Given the description of an element on the screen output the (x, y) to click on. 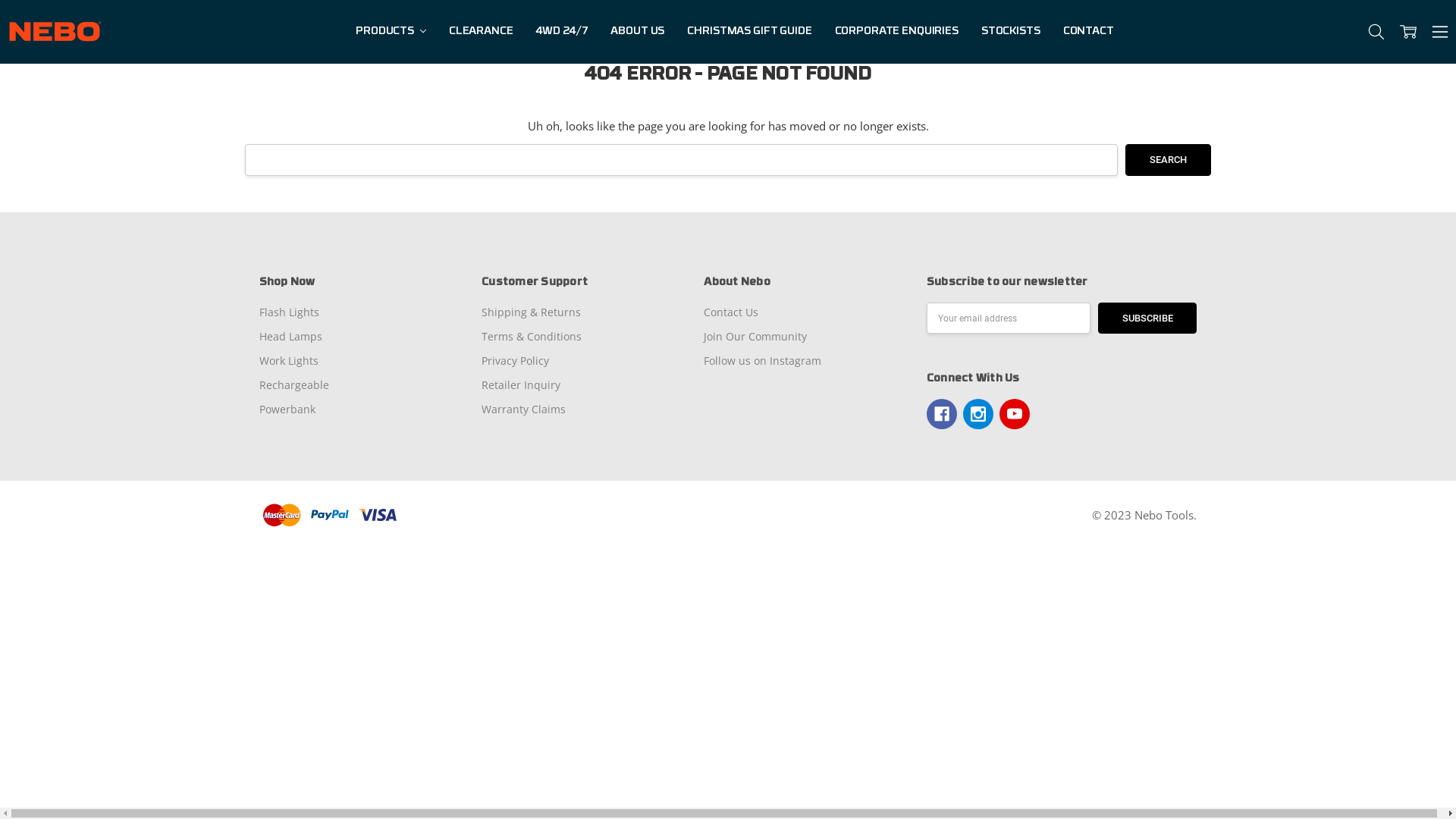
Follow us on Instagram Element type: text (762, 360)
STOCKISTS Element type: text (1010, 31)
Subscribe Element type: text (1147, 318)
CLEARANCE Element type: text (480, 31)
Flash Lights Element type: text (289, 311)
Search Element type: text (1168, 159)
Shipping & Returns Element type: text (530, 311)
Join Our Community Element type: text (754, 336)
4WD 24/7 Element type: text (561, 31)
CORPORATE ENQUIRIES Element type: text (896, 31)
Contact Us Element type: text (730, 311)
Work Lights Element type: text (288, 360)
Powerbank Element type: text (287, 408)
Privacy Policy Element type: text (515, 360)
CHRISTMAS GIFT GUIDE Element type: text (748, 31)
CONTACT Element type: text (1088, 31)
Retailer Inquiry Element type: text (520, 384)
Head Lamps Element type: text (290, 336)
PRODUCTS Element type: text (390, 31)
Warranty Claims Element type: text (523, 408)
ABOUT US Element type: text (637, 31)
Nebo Tools Element type: hover (54, 31)
Show All Element type: hover (363, 32)
Terms & Conditions Element type: text (531, 336)
Rechargeable Element type: text (294, 384)
